Given the description of an element on the screen output the (x, y) to click on. 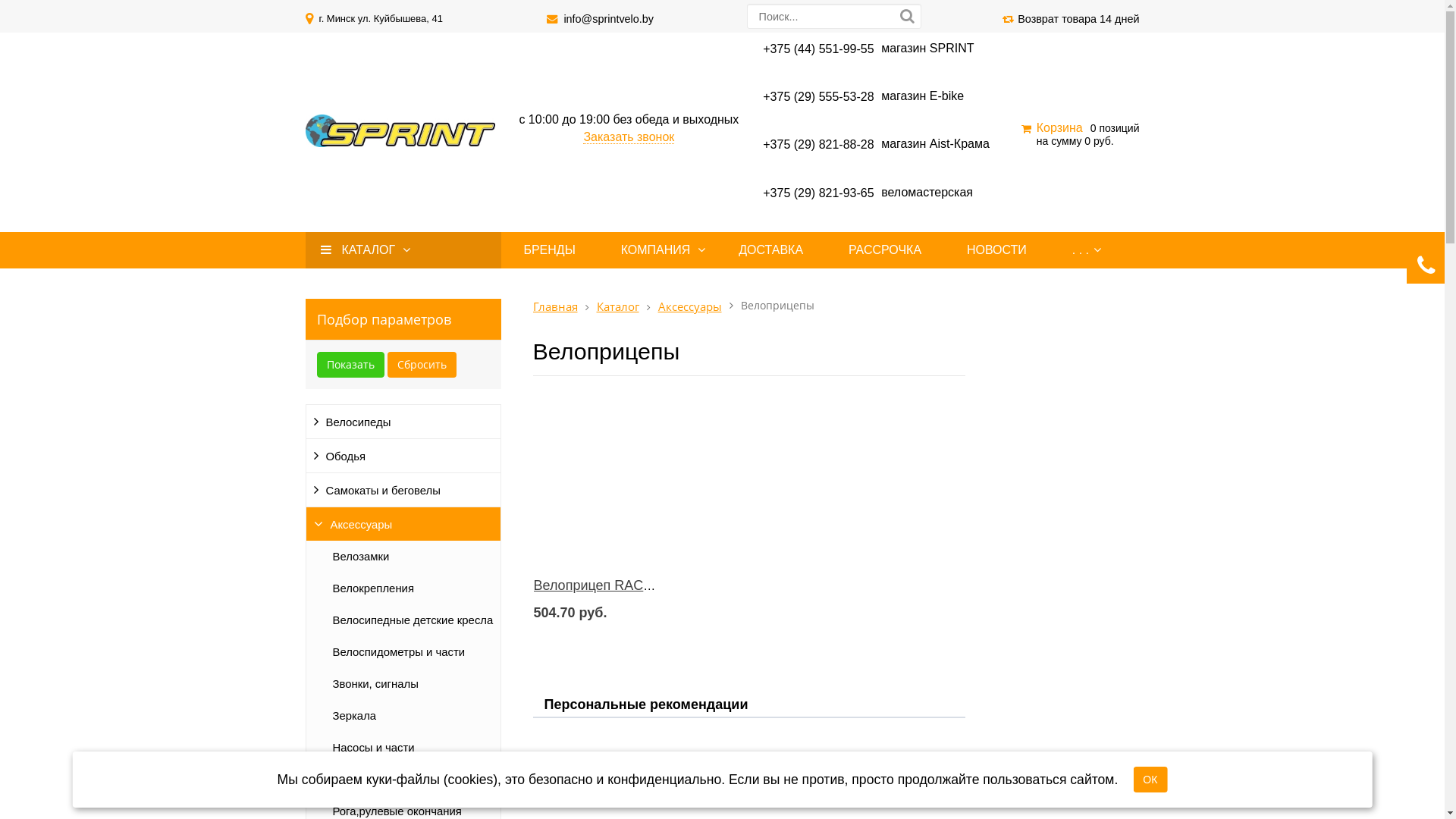
+375 (44) 551-99-55 Element type: text (817, 48)
+375 (29) 821-88-28 Element type: text (817, 143)
info@sprintvelo.by Element type: text (608, 18)
+375 (29) 821-93-65 Element type: text (817, 192)
. . . Element type: text (1080, 250)
+375 (29) 555-53-28 Element type: text (817, 95)
